Given the description of an element on the screen output the (x, y) to click on. 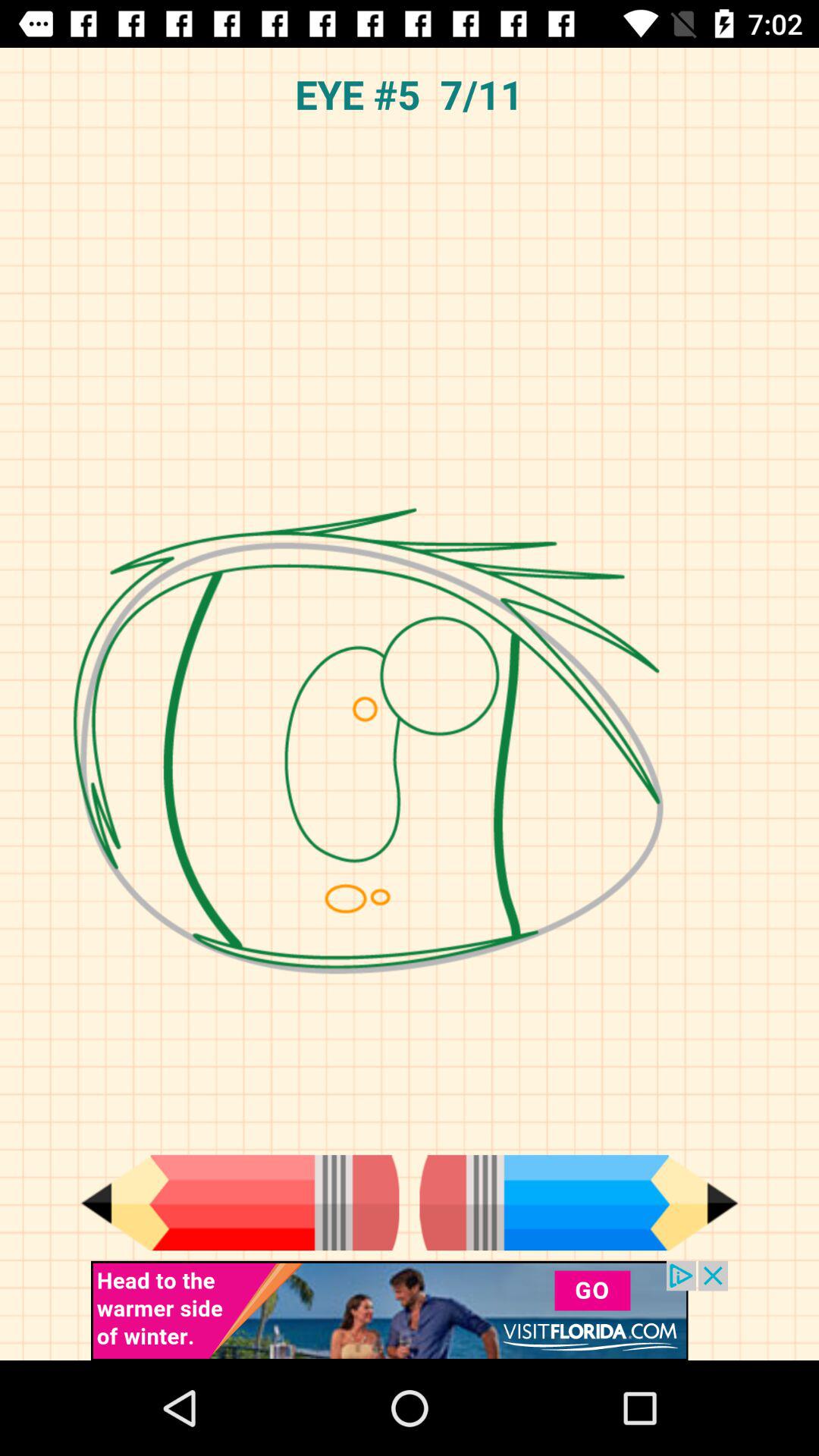
select vacation advertisement (409, 1310)
